Given the description of an element on the screen output the (x, y) to click on. 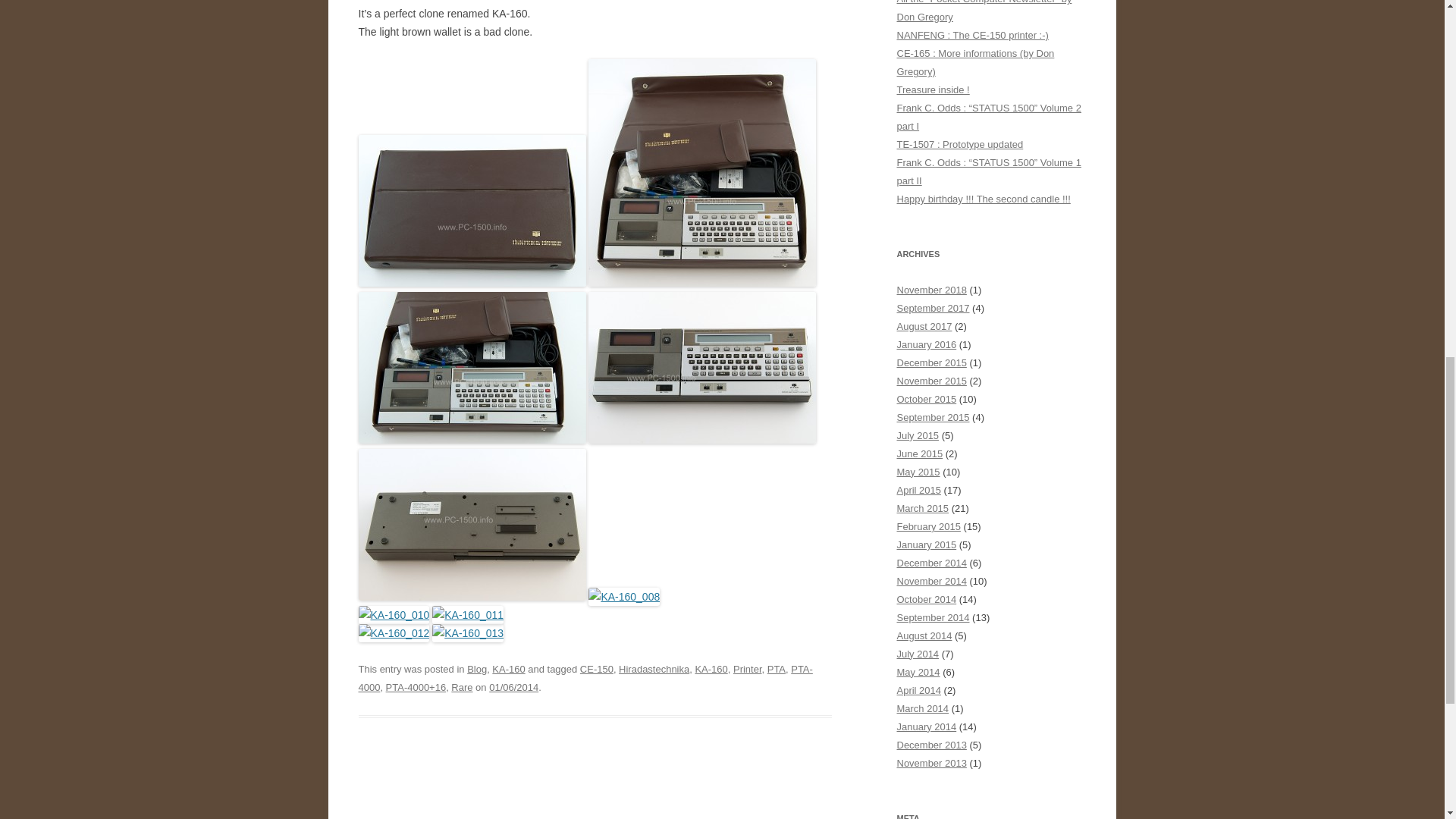
14:46 (513, 686)
